Given the description of an element on the screen output the (x, y) to click on. 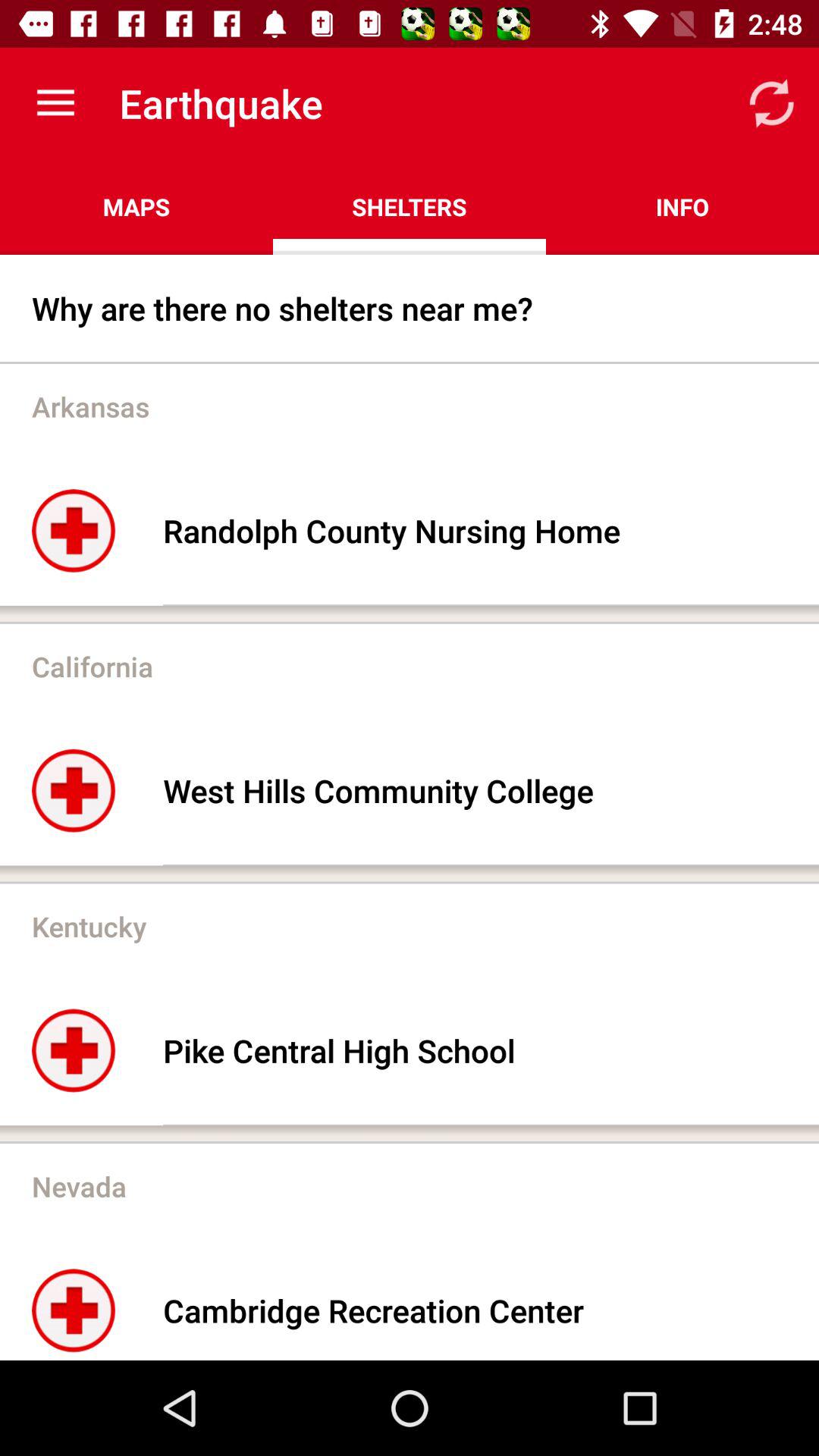
click the icon above info (771, 103)
